Given the description of an element on the screen output the (x, y) to click on. 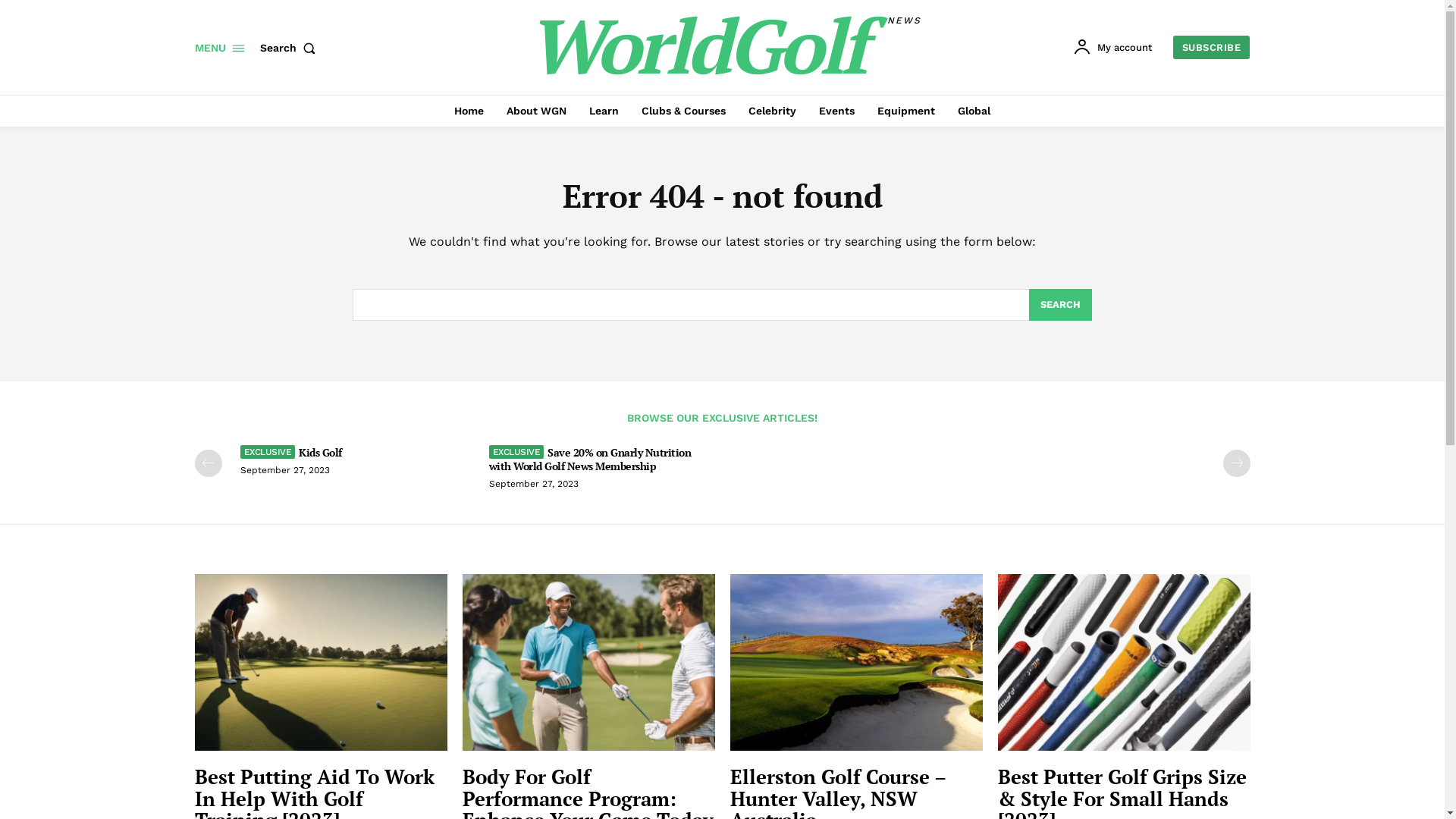
Home Element type: text (468, 110)
WorldGolf
NEWS Element type: text (723, 45)
Global Element type: text (973, 110)
Events Element type: text (836, 110)
Equipment Element type: text (905, 110)
Celebrity Element type: text (771, 110)
Clubs & Courses Element type: text (683, 110)
Save 20% on Gnarly Nutrition with World Golf News Membership Element type: text (589, 459)
SEARCH Element type: text (1060, 304)
Best Putting Aid To Work In Help With Golf Training [2023] Element type: hover (320, 662)
Search Element type: text (290, 47)
About WGN Element type: text (536, 110)
Learn Element type: text (603, 110)
SUBSCRIBE Element type: text (1211, 46)
MENU Element type: text (219, 47)
Best Putter Golf Grips Size & Style For Small Hands [2023] Element type: hover (1123, 662)
Body For Golf Performance Program: Enhance Your Game Today Element type: hover (588, 662)
Kids Golf Element type: text (290, 452)
